Given the description of an element on the screen output the (x, y) to click on. 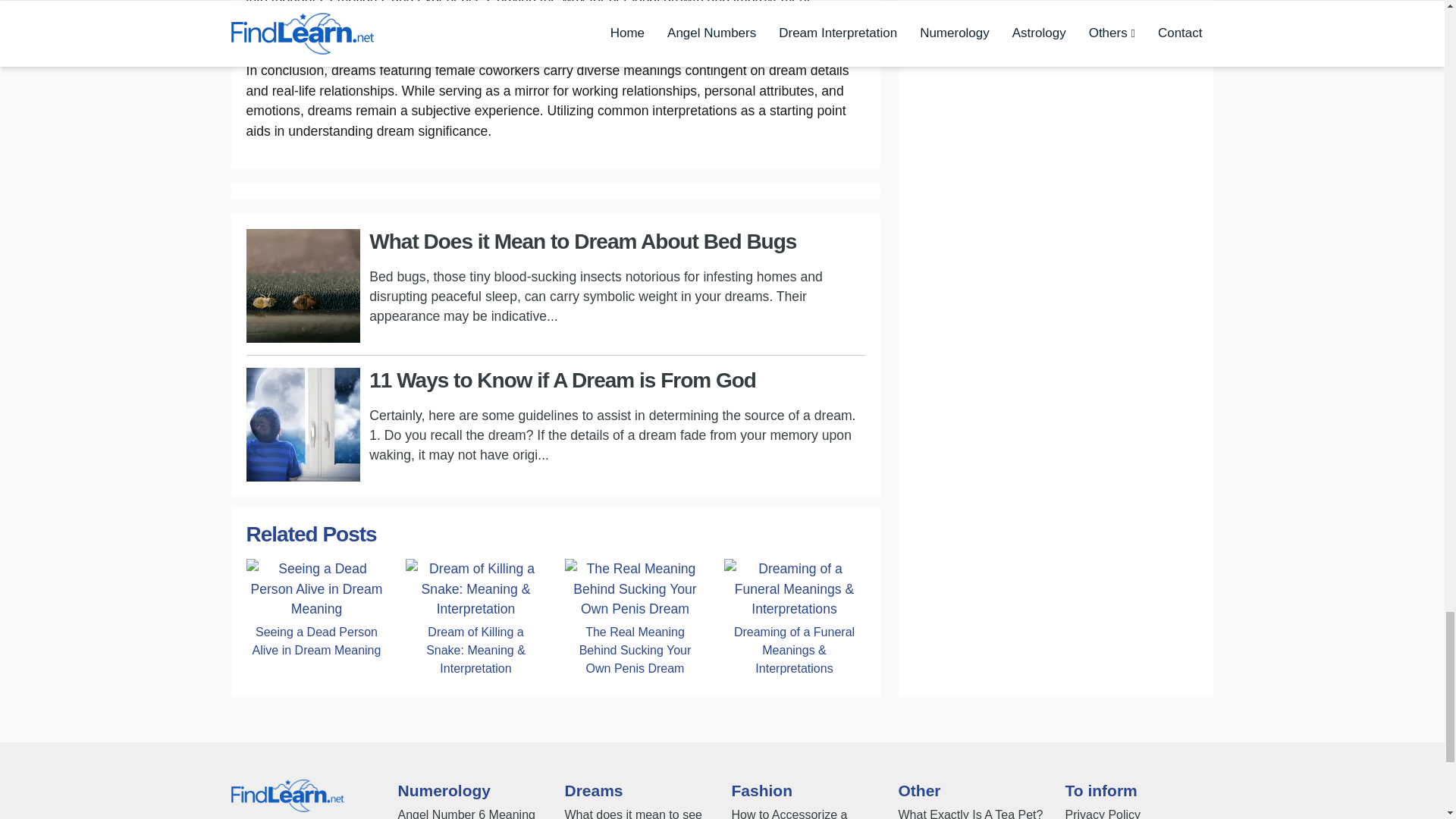
Seeing a Dead Person Alive in Dream Meaning (316, 641)
The Real Meaning Behind Sucking Your Own Penis Dream (634, 650)
Seeing a Dead Person Alive in Dream Meaning (316, 588)
